Given the description of an element on the screen output the (x, y) to click on. 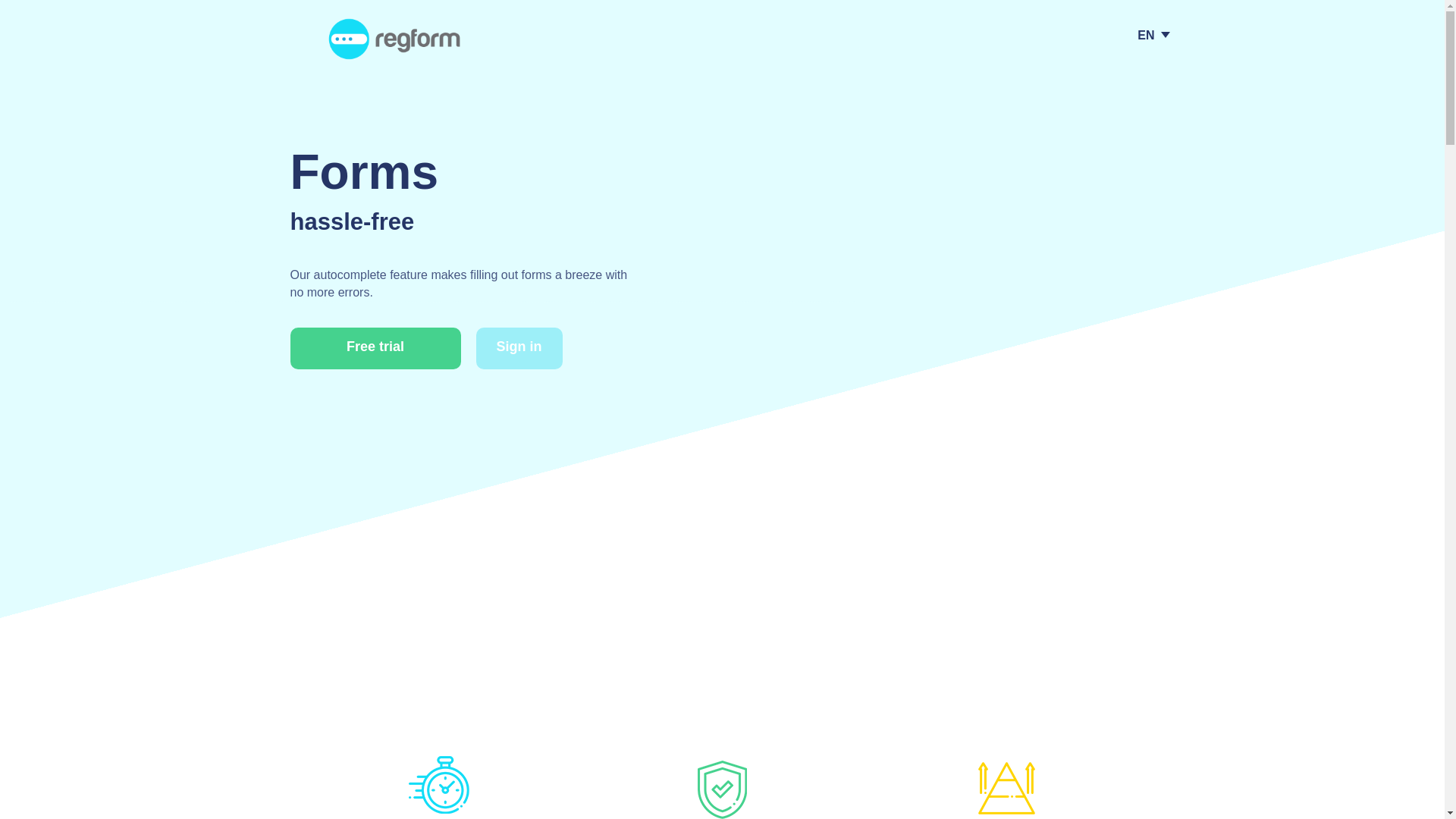
Sign in (519, 348)
Free trial (374, 348)
EN (1145, 39)
